Given the description of an element on the screen output the (x, y) to click on. 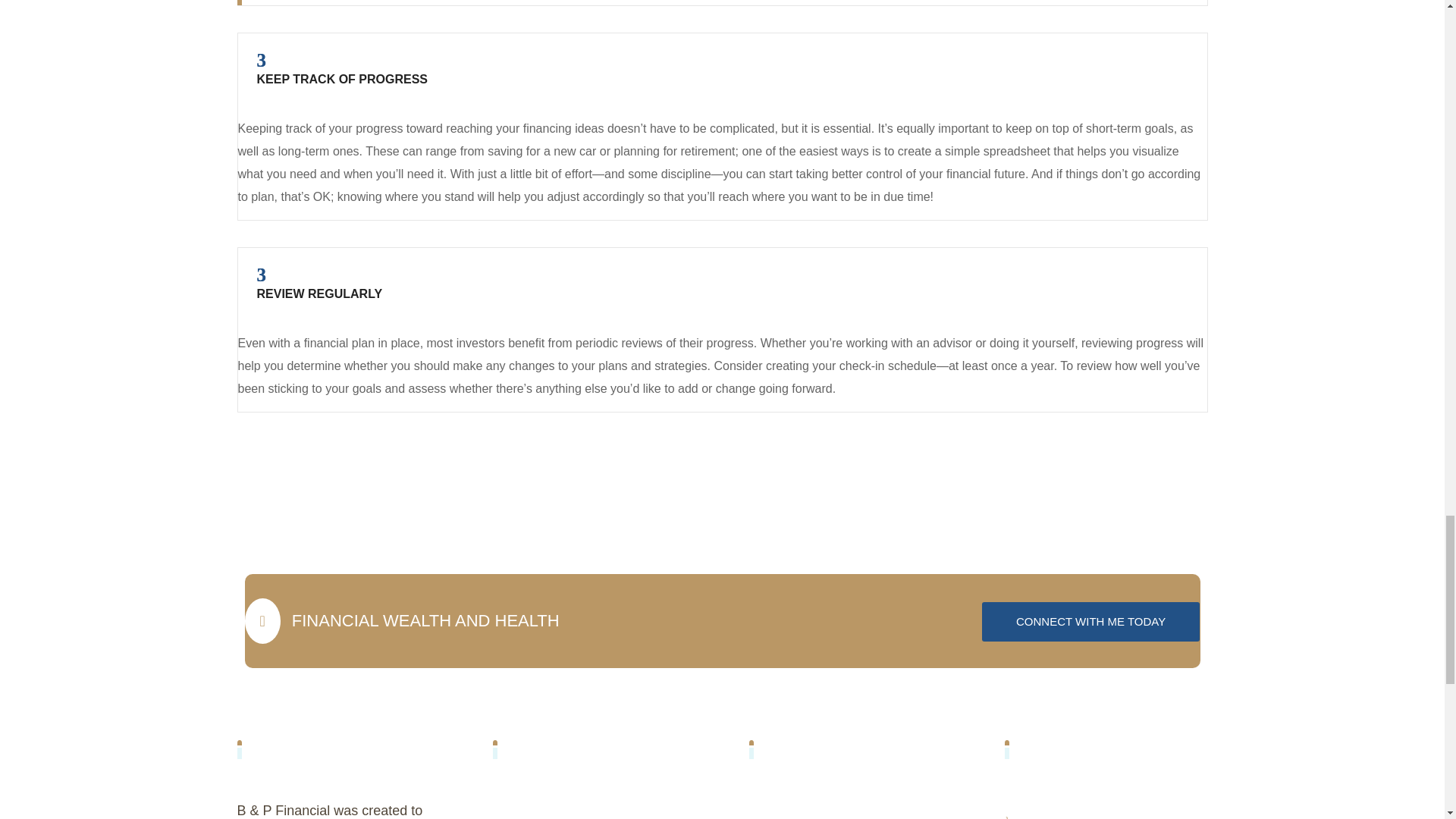
CONNECT WITH ME TODAY (1030, 816)
ABOUT (1090, 621)
Tax Strategy In Retirement: 10 Tips To Save On Taxes (516, 816)
